Given the description of an element on the screen output the (x, y) to click on. 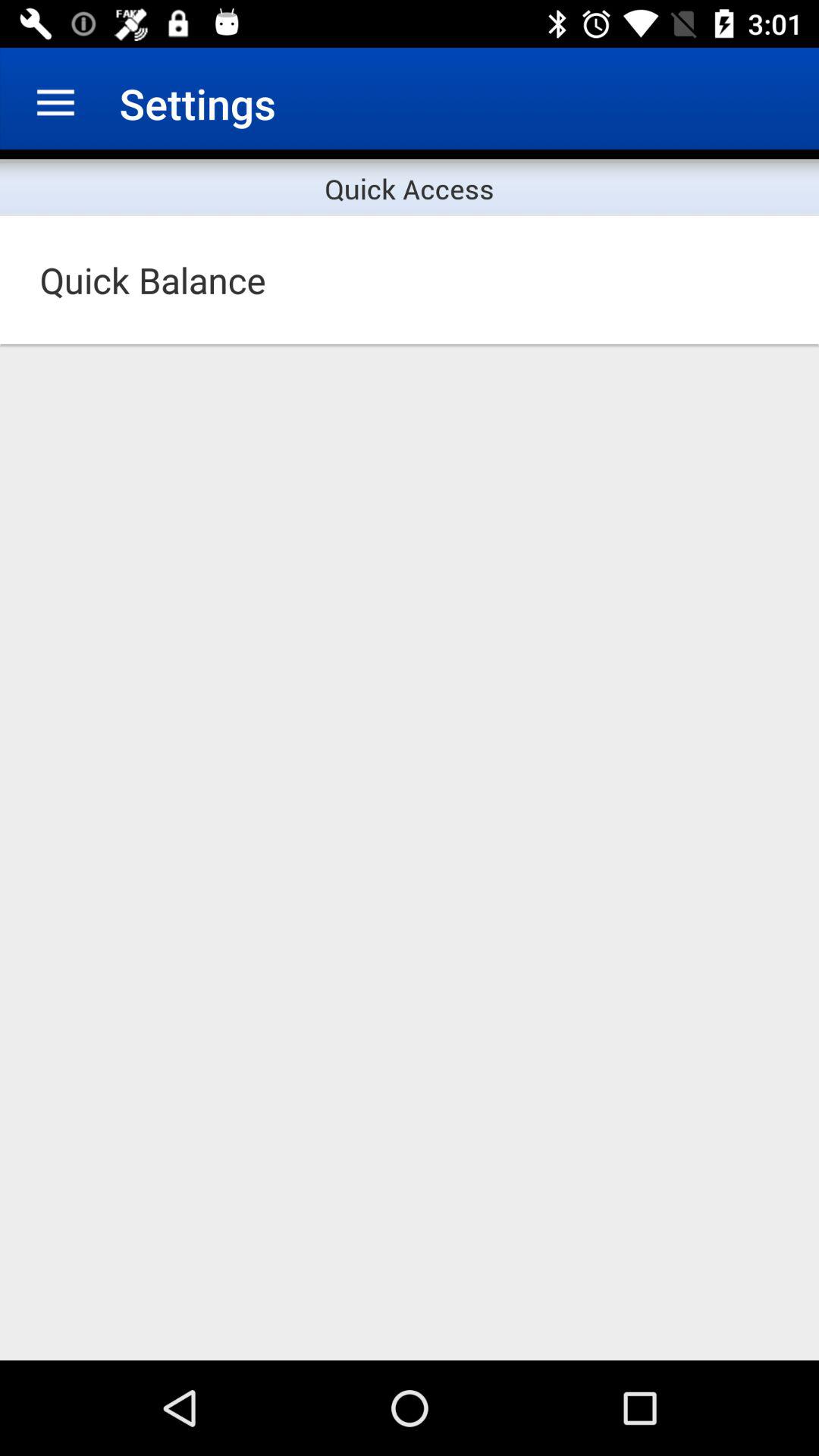
choose the icon to the left of settings icon (55, 103)
